Given the description of an element on the screen output the (x, y) to click on. 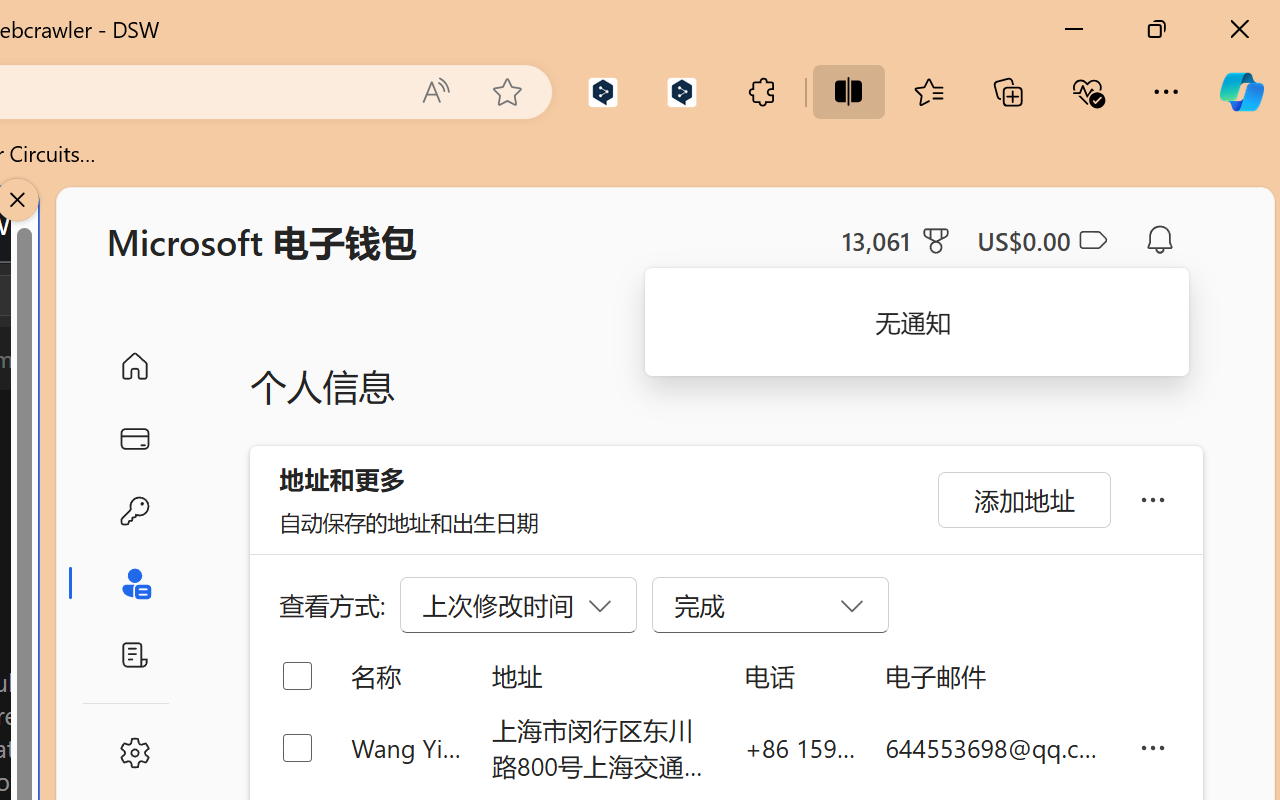
+86 159 0032 4640 (799, 747)
Microsoft Cashback - US$0.00 (1041, 240)
